Given the description of an element on the screen output the (x, y) to click on. 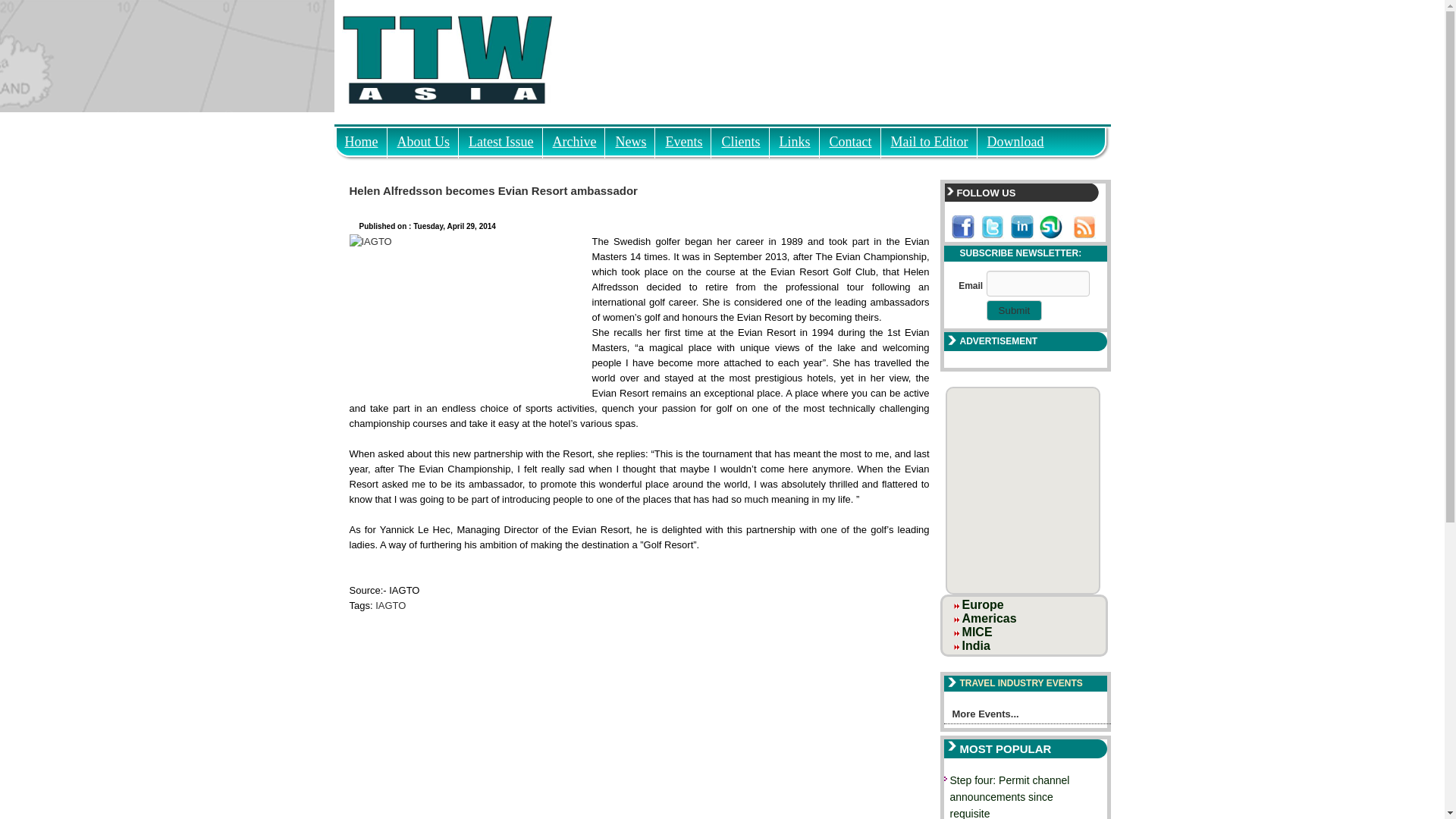
Events (683, 137)
News (630, 137)
More Events... (1026, 715)
Europe (983, 604)
Clients (740, 137)
India (976, 645)
Contact (850, 137)
Step four: Permit channel announcements since requisite (1008, 796)
Download (1015, 137)
IAGTO (390, 604)
Americas (989, 617)
Latest Issue (500, 137)
Home (361, 137)
MICE (977, 631)
Submit (1014, 310)
